Given the description of an element on the screen output the (x, y) to click on. 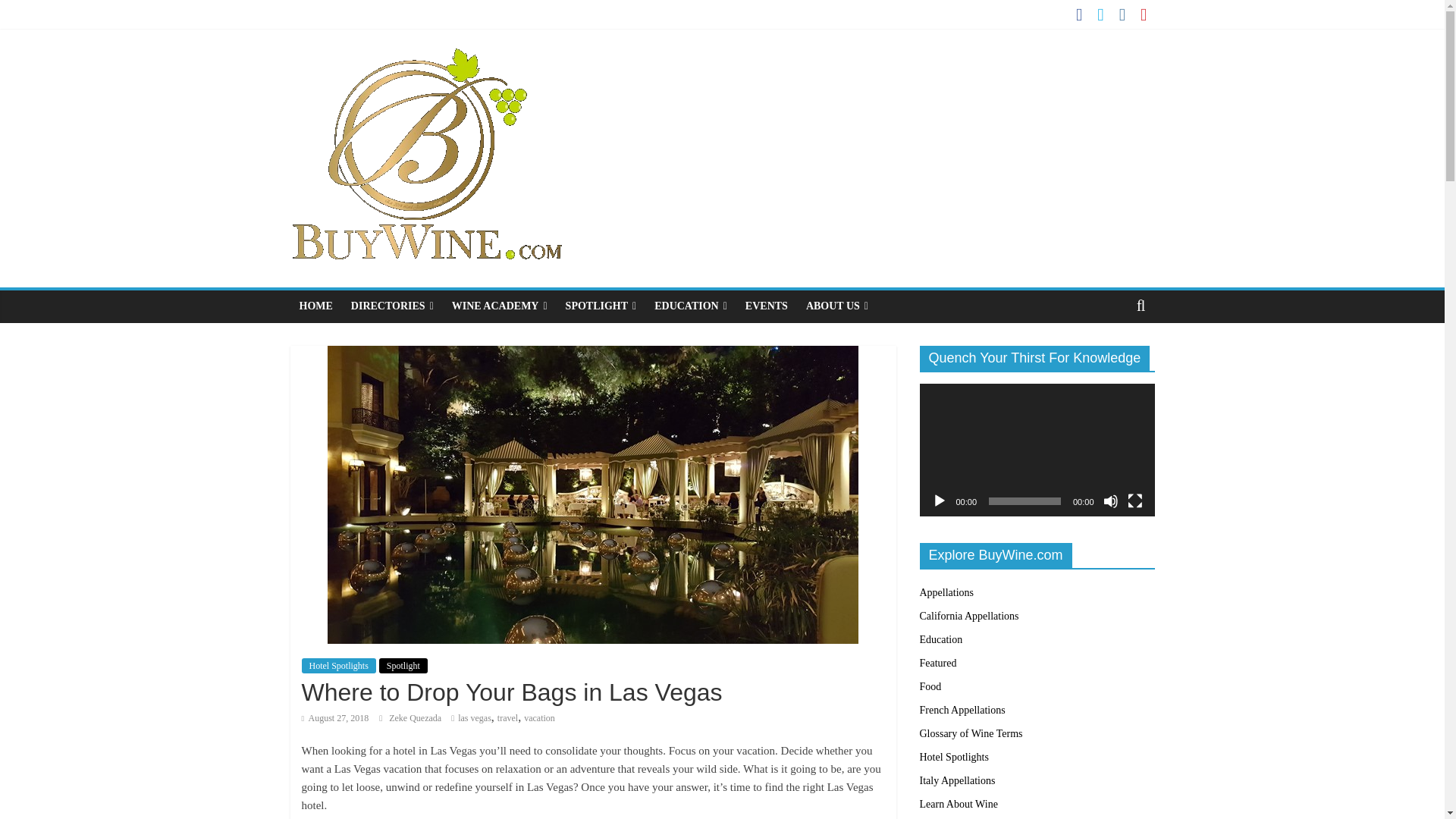
Mute (1110, 500)
12:03 pm (335, 717)
Zeke Quezada (416, 717)
HOME (314, 306)
Play (938, 500)
ABOUT US (836, 306)
1.844.4.BUYWINE (1086, 99)
WINE ACADEMY (499, 306)
EVENTS (766, 306)
DIRECTORIES (392, 306)
